Given the description of an element on the screen output the (x, y) to click on. 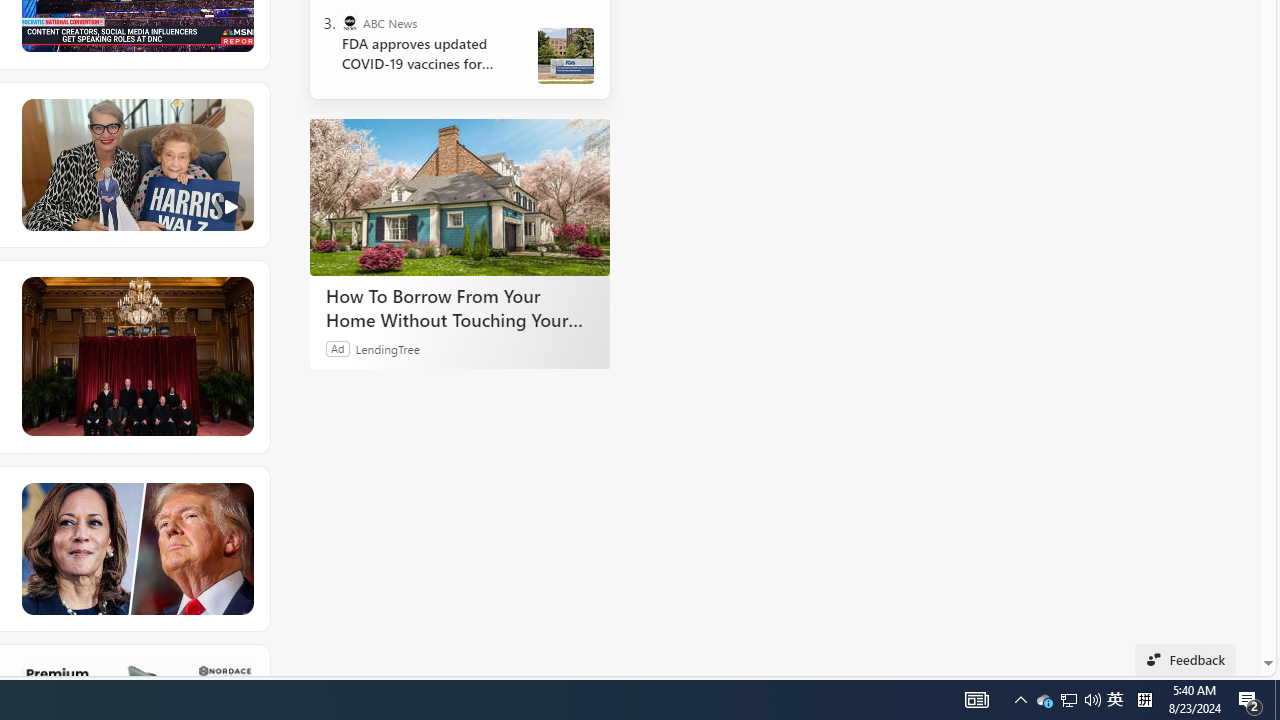
Class: hero-image (136, 165)
ABC News (349, 22)
